Given the description of an element on the screen output the (x, y) to click on. 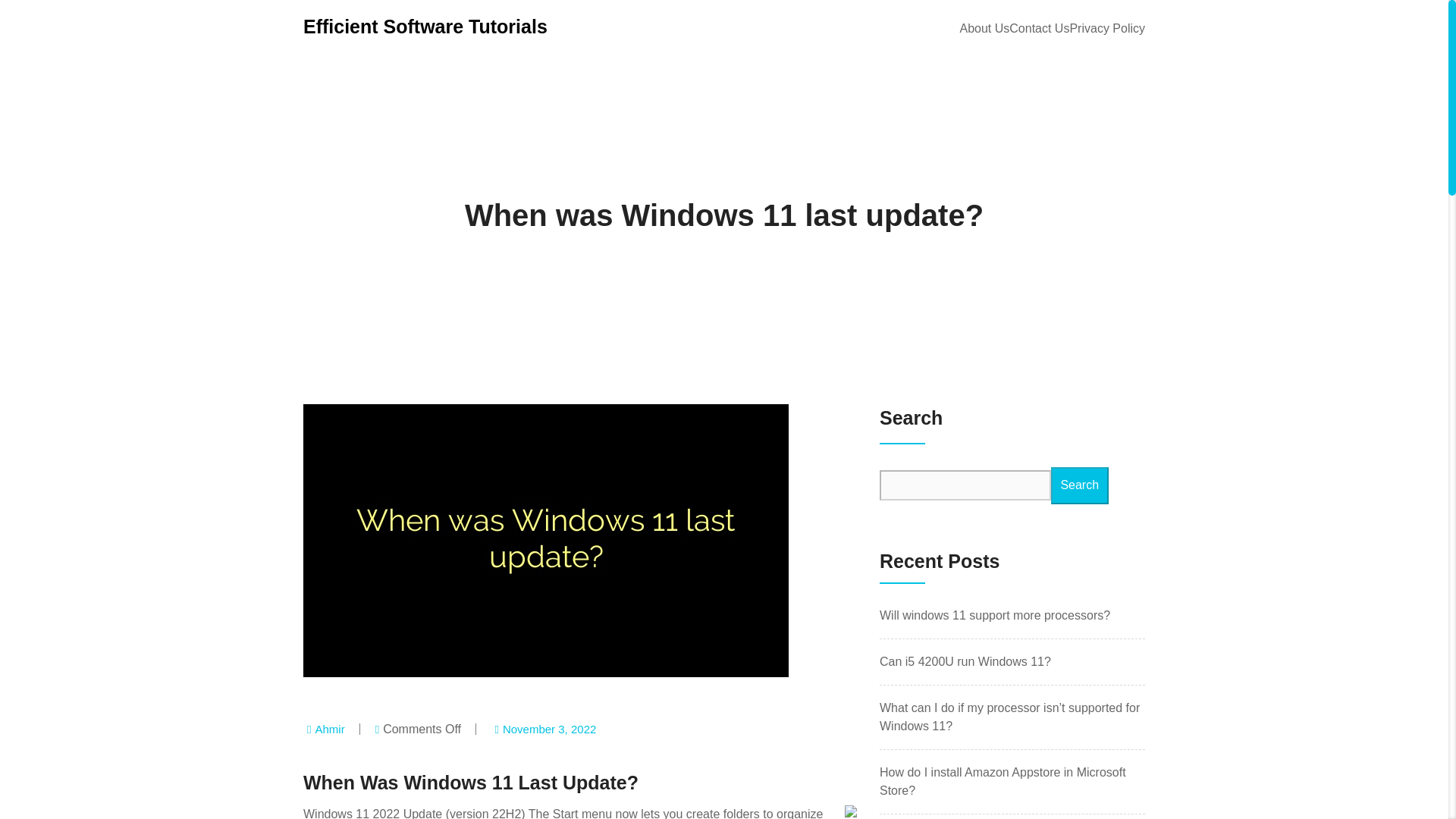
Contact Us (1038, 27)
Efficient Software Tutorials (424, 26)
Will windows 11 support more processors? (994, 615)
About Us (984, 27)
Ahmir (328, 728)
November 3, 2022 (548, 728)
Search (1079, 485)
How do I install Amazon Appstore in Microsoft Store? (1002, 780)
Privacy Policy (1106, 27)
Can i5 4200U run Windows 11? (965, 661)
